Given the description of an element on the screen output the (x, y) to click on. 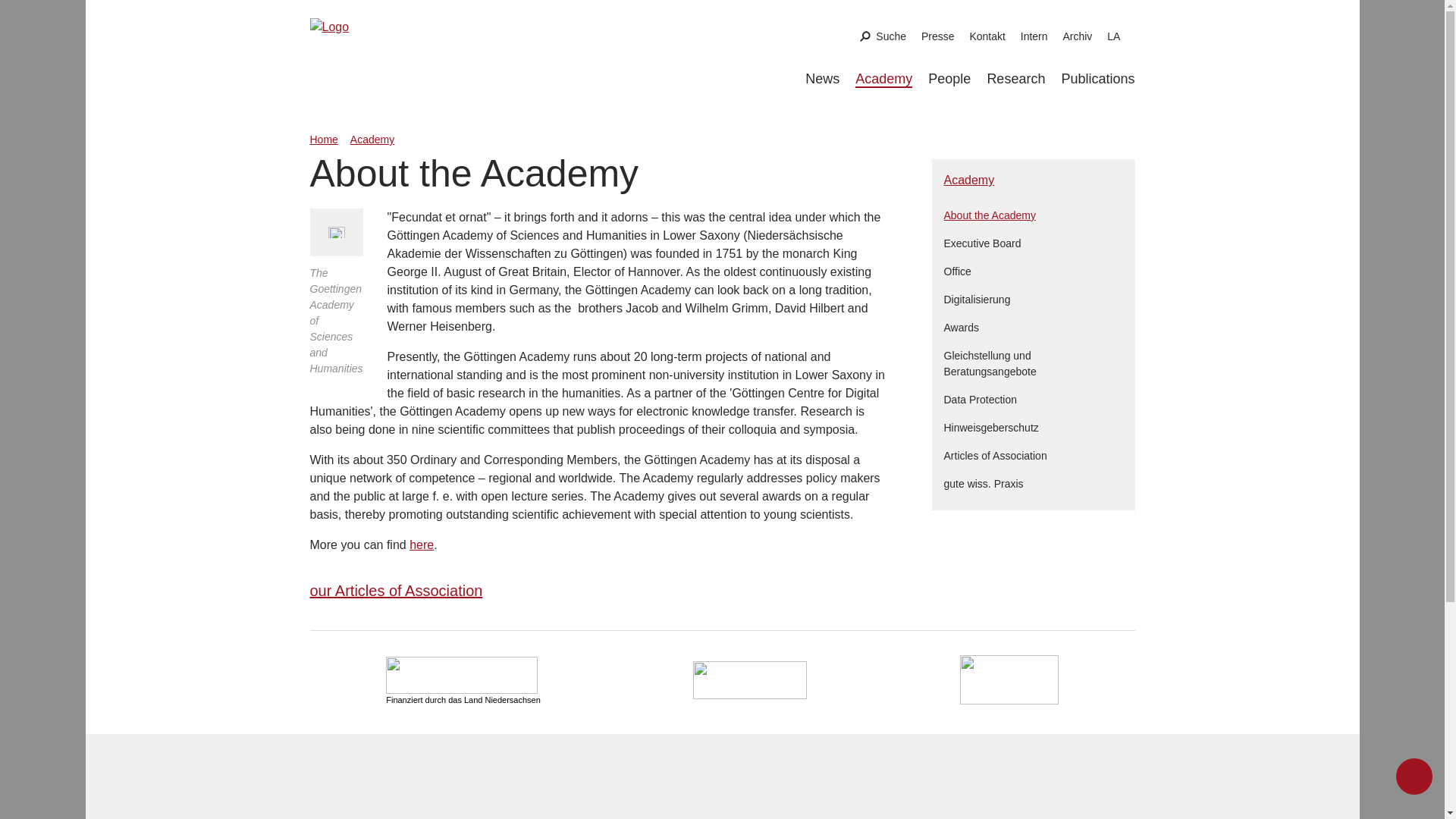
Suche (882, 36)
Kontakt (986, 36)
Presse (938, 36)
Academy (884, 79)
News (822, 78)
Archiv (1077, 36)
Intern (1034, 36)
Academy (884, 79)
News (822, 78)
